Given the description of an element on the screen output the (x, y) to click on. 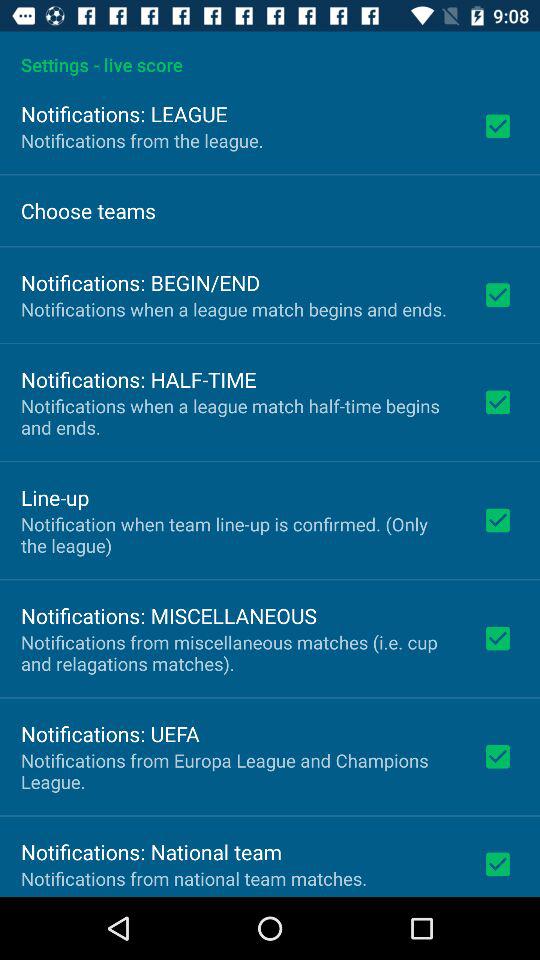
tap the notification when team icon (238, 534)
